Given the description of an element on the screen output the (x, y) to click on. 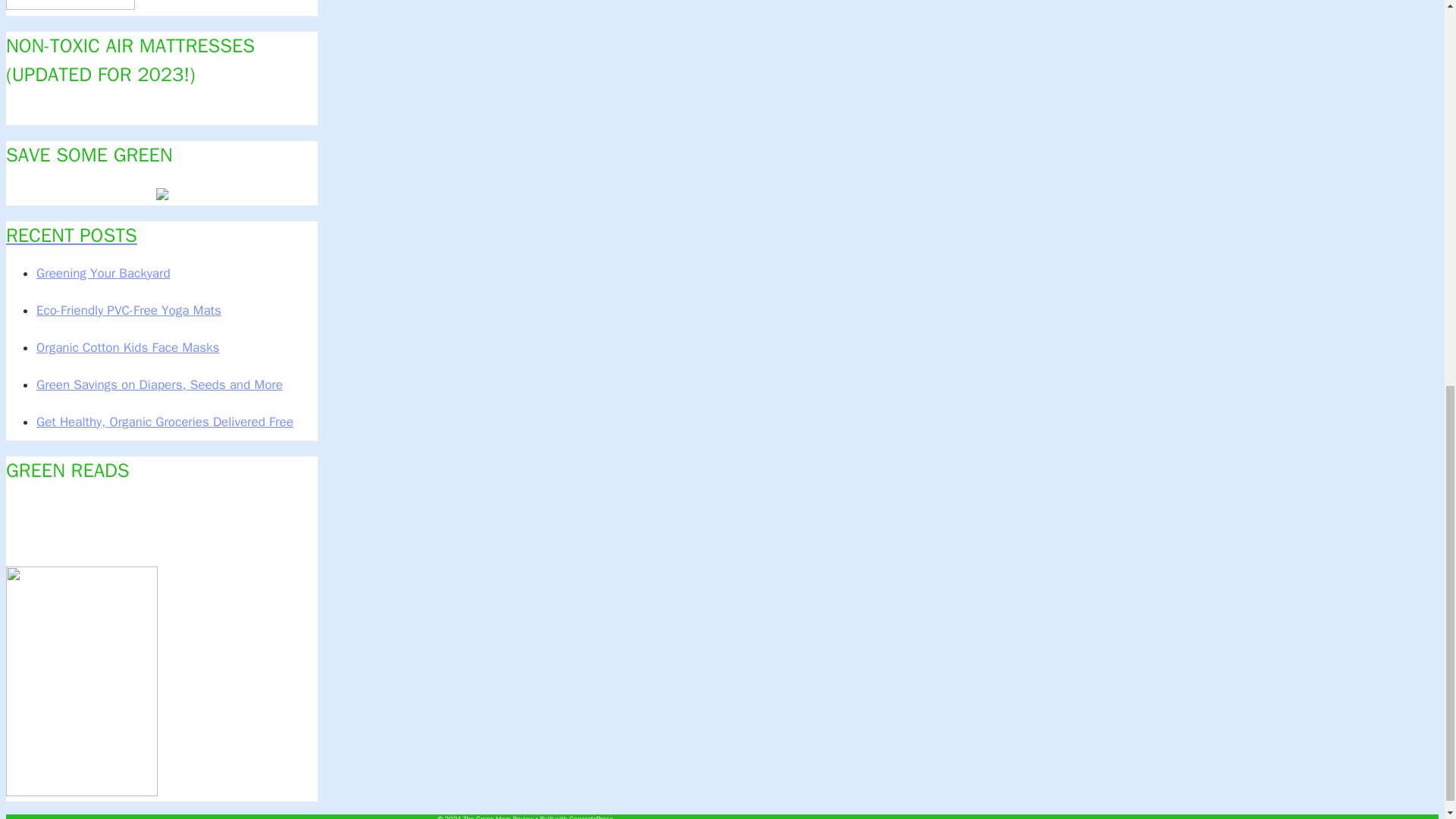
Organic Cotton Kids Face Masks (127, 347)
Get Healthy, Organic Groceries Delivered Free (165, 421)
Greening Your Backyard (103, 273)
RECENT POSTS (161, 235)
Green Savings on Diapers, Seeds and More (159, 384)
Eco-Friendly PVC-Free Yoga Mats (128, 310)
